Given the description of an element on the screen output the (x, y) to click on. 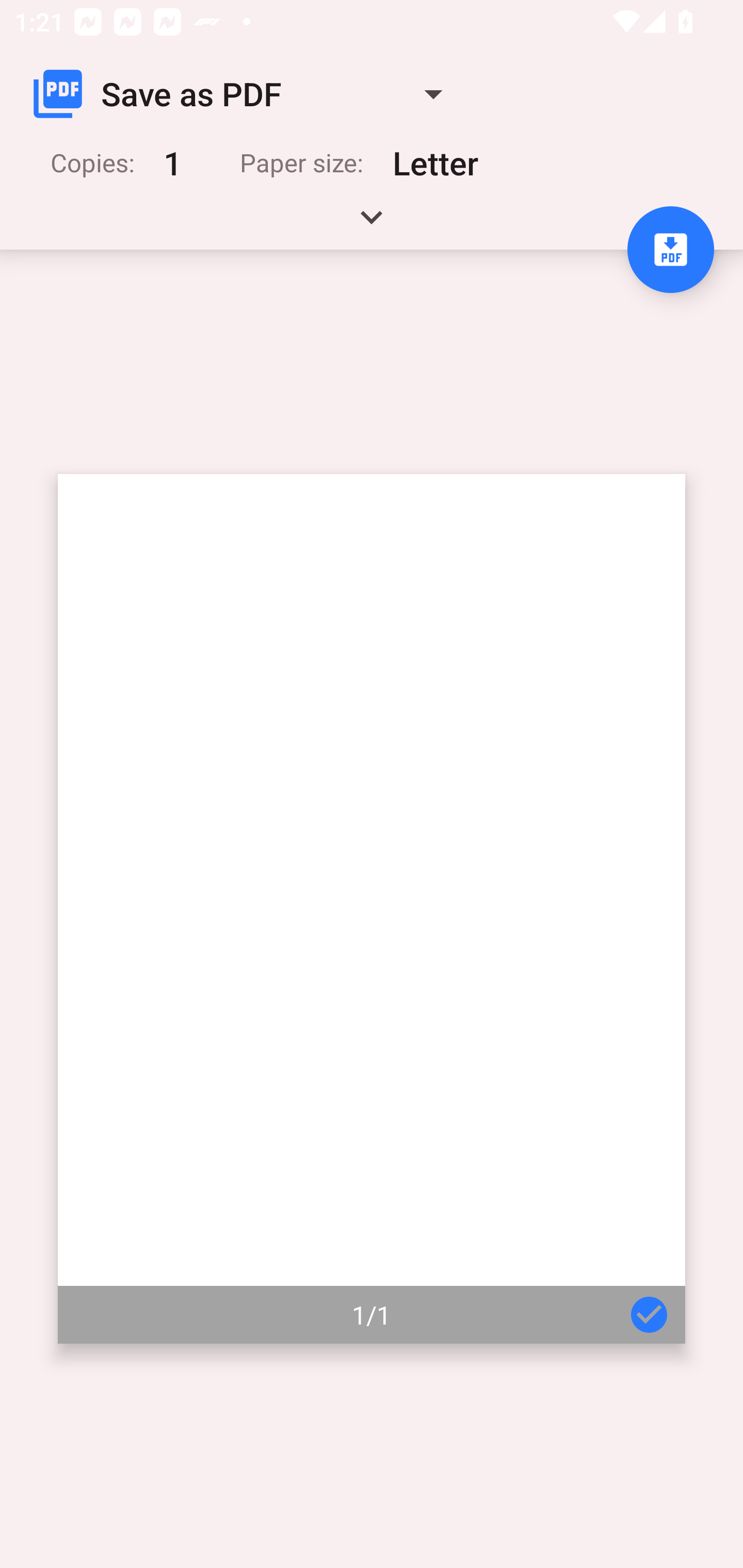
Save as PDF (245, 93)
Expand handle (371, 224)
Save to PDF (670, 249)
Page 1 of 1 1/1 (371, 908)
